Given the description of an element on the screen output the (x, y) to click on. 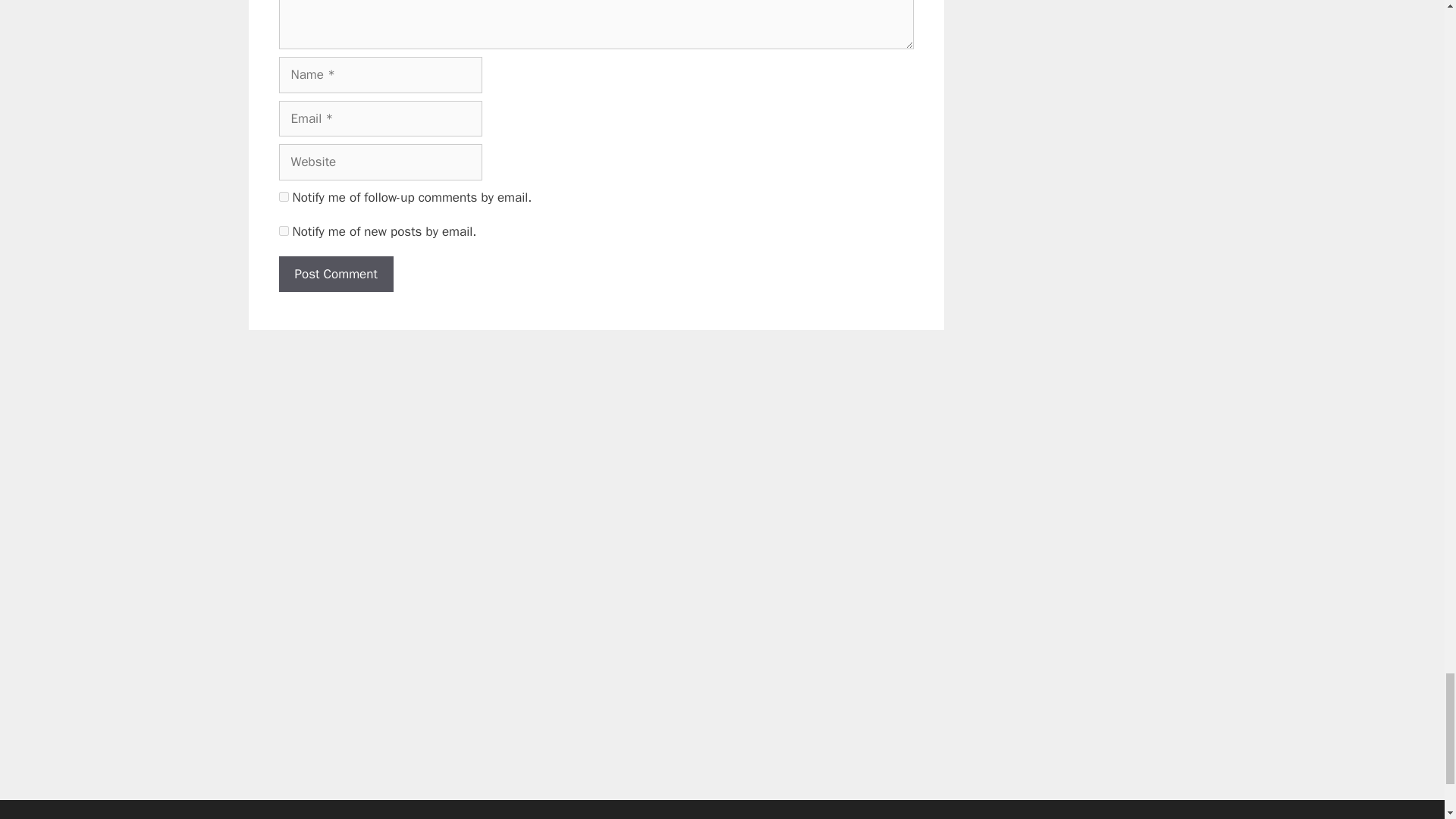
subscribe (283, 230)
Post Comment (336, 274)
subscribe (283, 196)
